Given the description of an element on the screen output the (x, y) to click on. 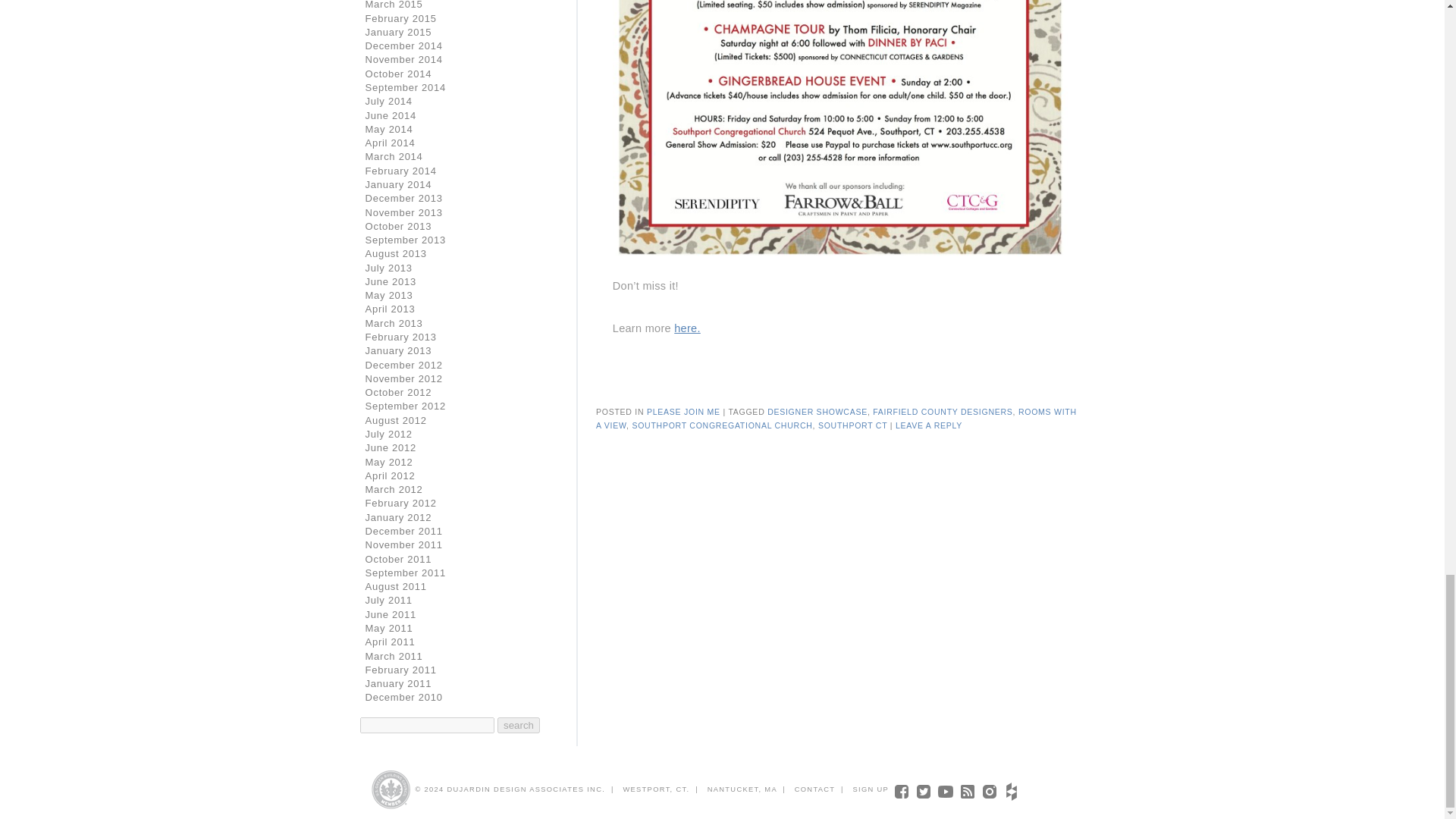
search (518, 725)
search (518, 725)
